Given the description of an element on the screen output the (x, y) to click on. 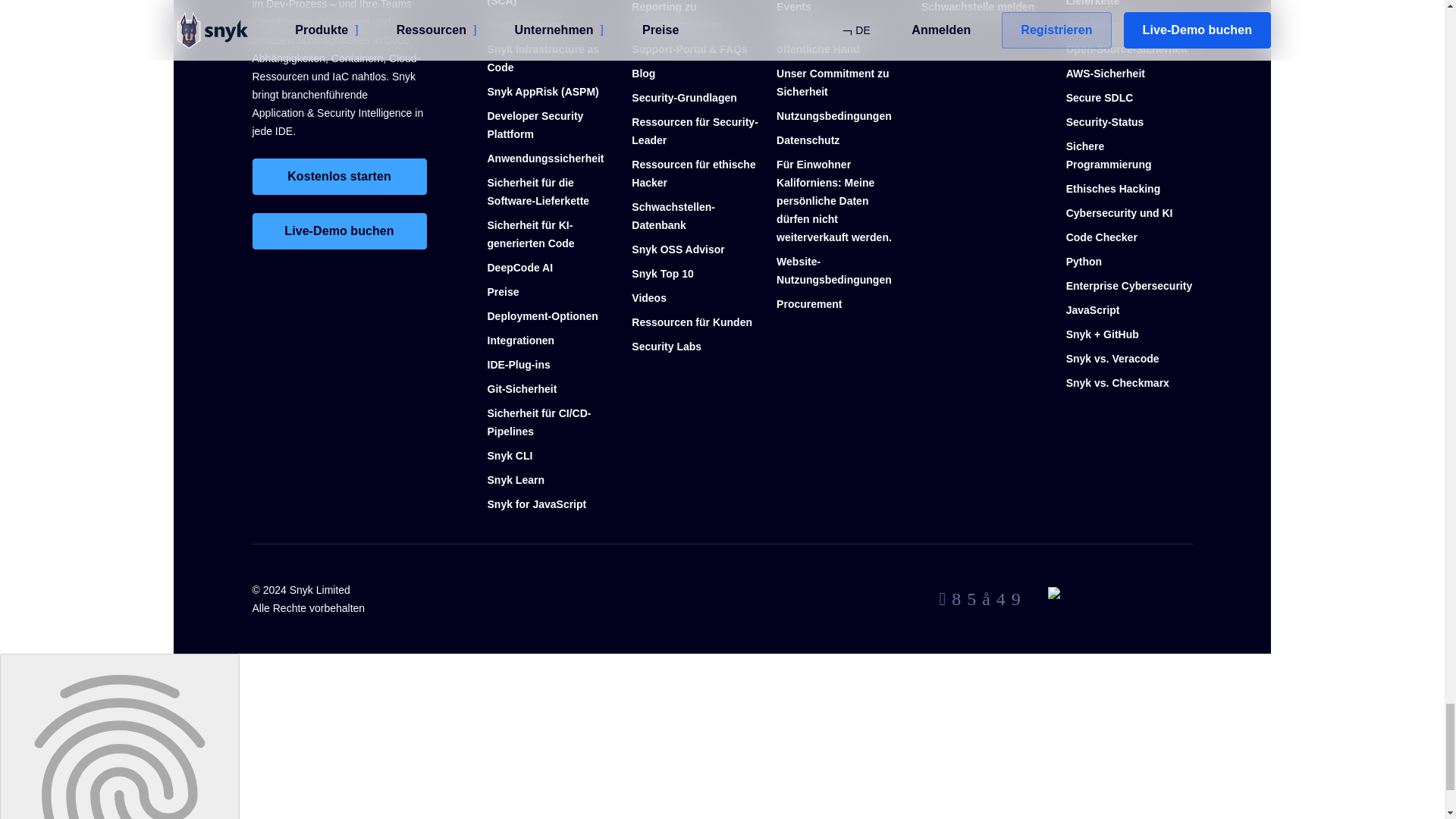
Kostenlos starten (338, 176)
Live-Demo buchen (338, 230)
